Given the description of an element on the screen output the (x, y) to click on. 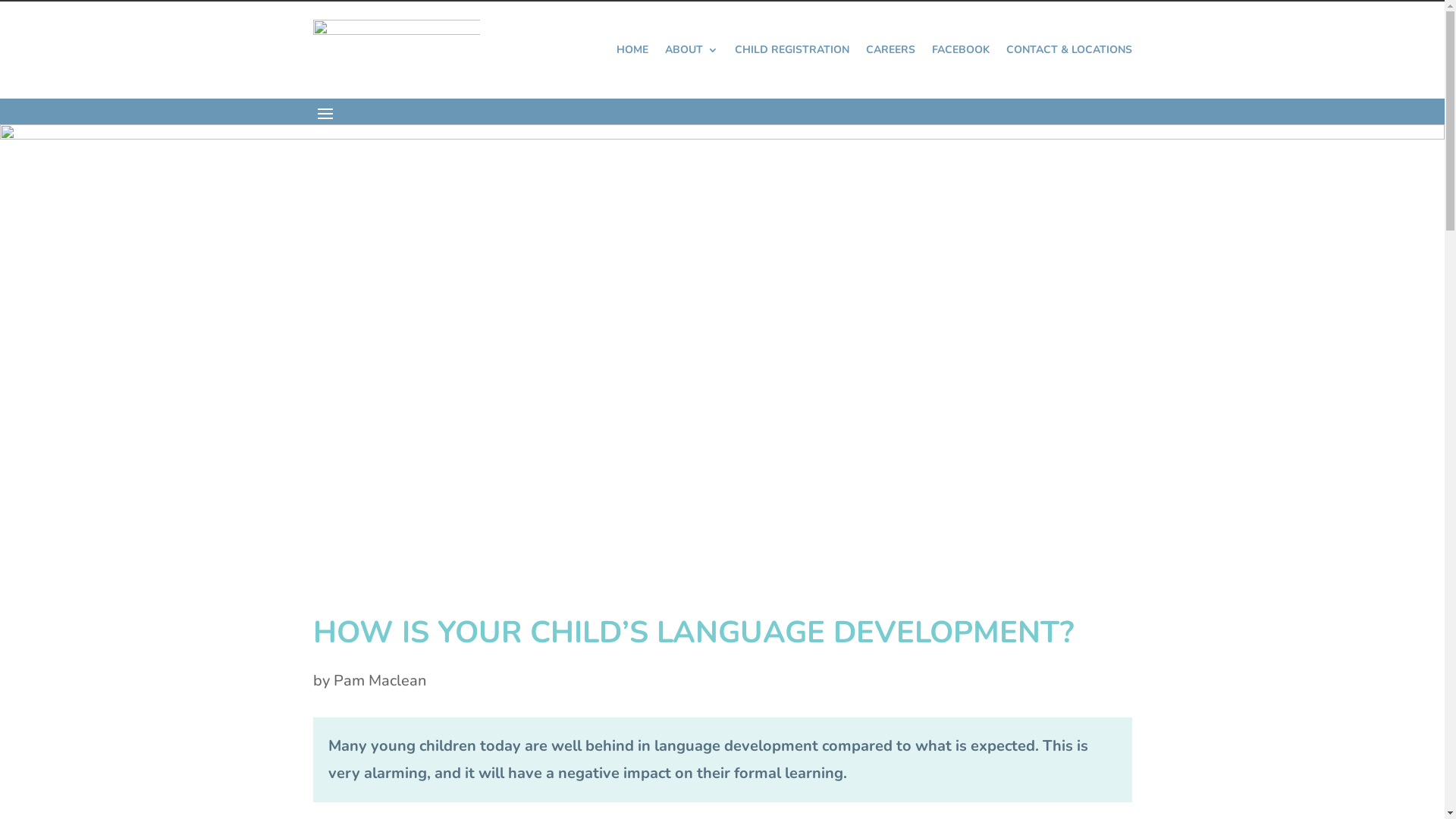
CAREERS Element type: text (890, 49)
CONTACT & LOCATIONS Element type: text (1068, 49)
FACEBOOK Element type: text (959, 49)
CHILD REGISTRATION Element type: text (791, 49)
Pam Maclean Element type: text (379, 680)
HOME Element type: text (631, 49)
OA-Striped-banner-with-no-byline Element type: hover (722, 334)
ABOUT Element type: text (690, 49)
